Given the description of an element on the screen output the (x, y) to click on. 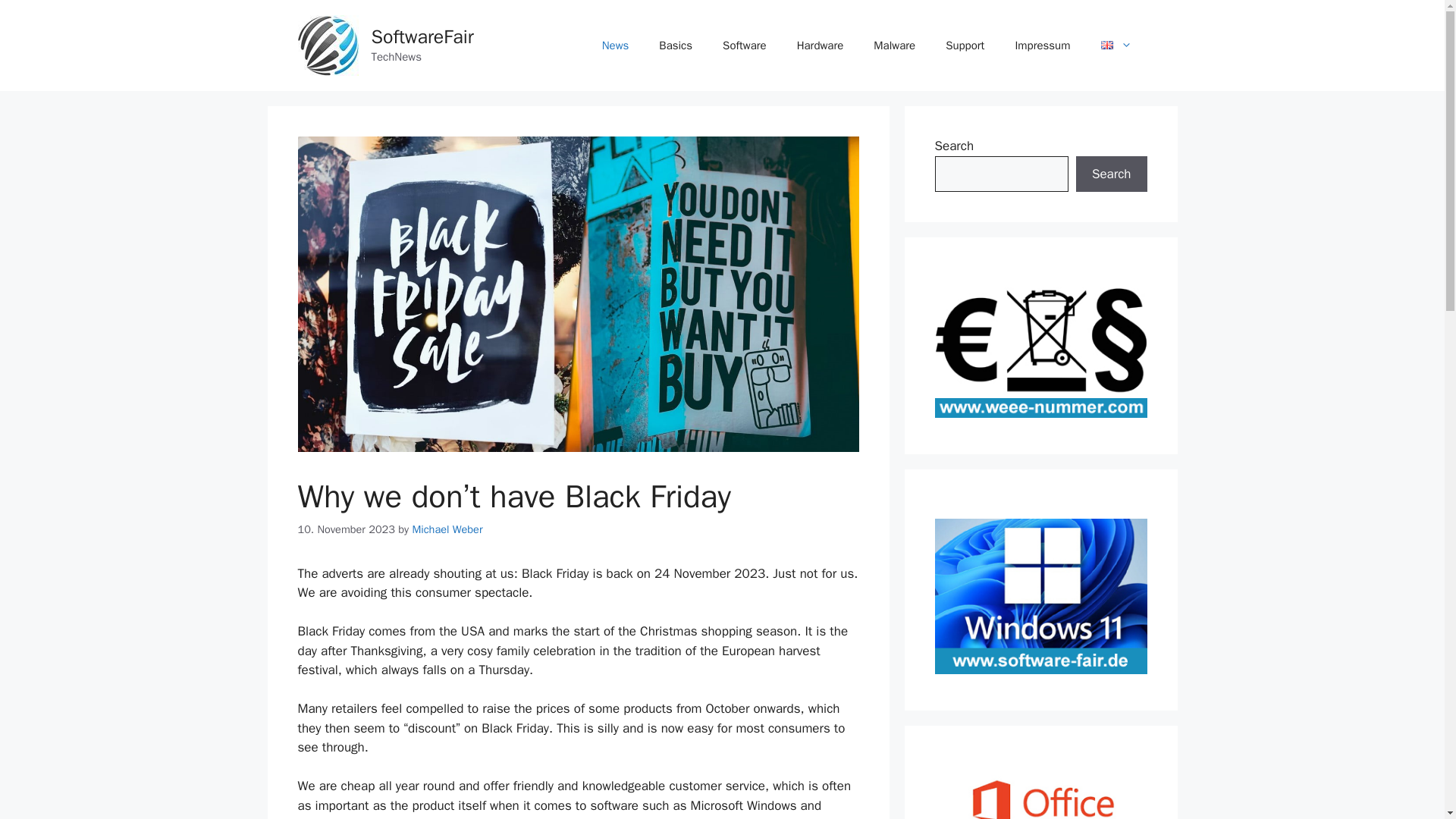
Search (1111, 174)
View all posts by Michael Weber (446, 529)
Basics (675, 44)
Impressum (1041, 44)
SoftwareFair (327, 45)
Support (964, 44)
News (615, 44)
Software (744, 44)
SoftwareFair (422, 36)
Hardware (820, 44)
